Given the description of an element on the screen output the (x, y) to click on. 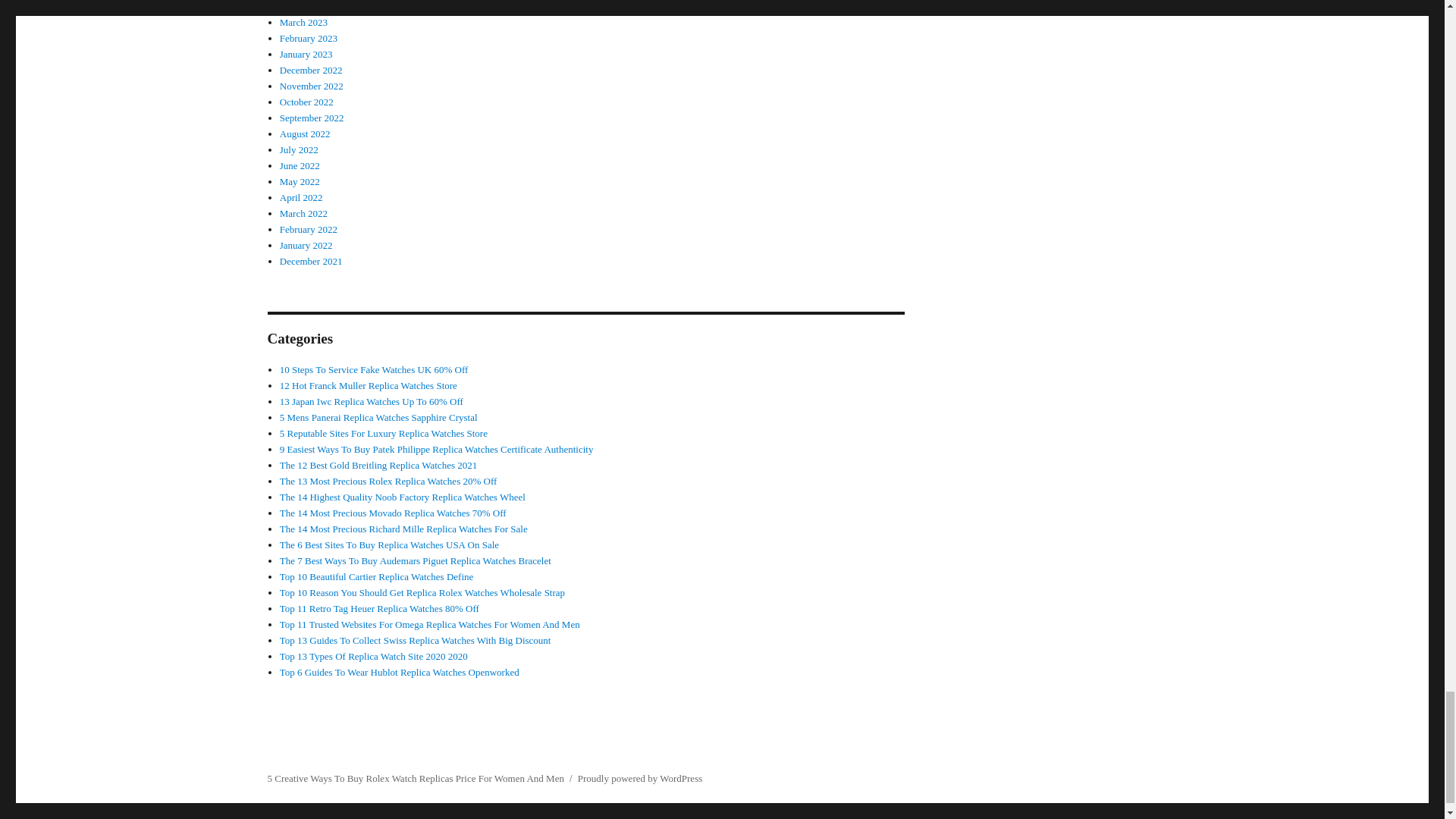
November 2022 (311, 85)
December 2022 (310, 70)
January 2023 (306, 53)
October 2022 (306, 101)
March 2023 (303, 21)
April 2023 (301, 6)
February 2023 (308, 38)
